Given the description of an element on the screen output the (x, y) to click on. 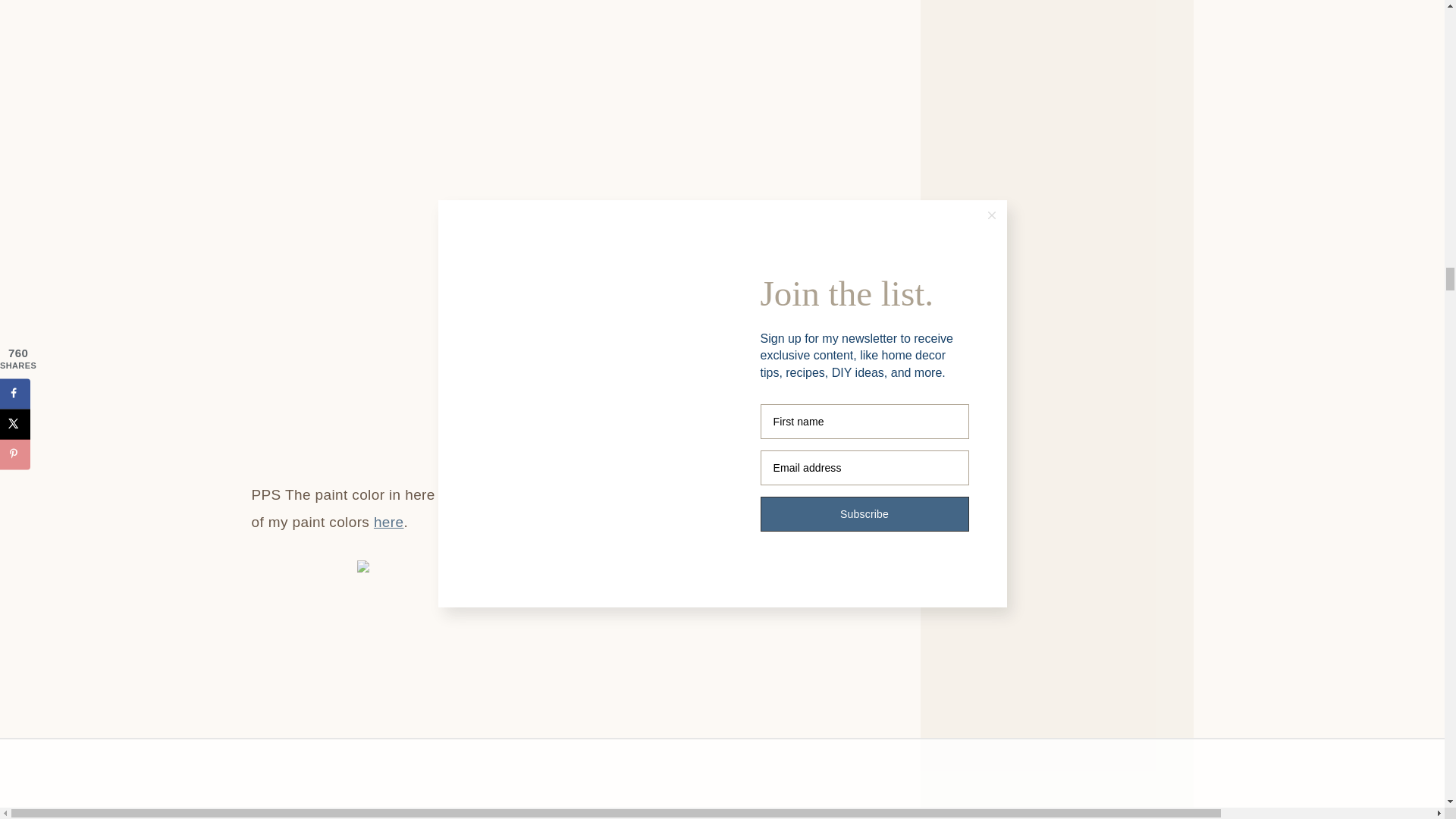
here (389, 521)
